Given the description of an element on the screen output the (x, y) to click on. 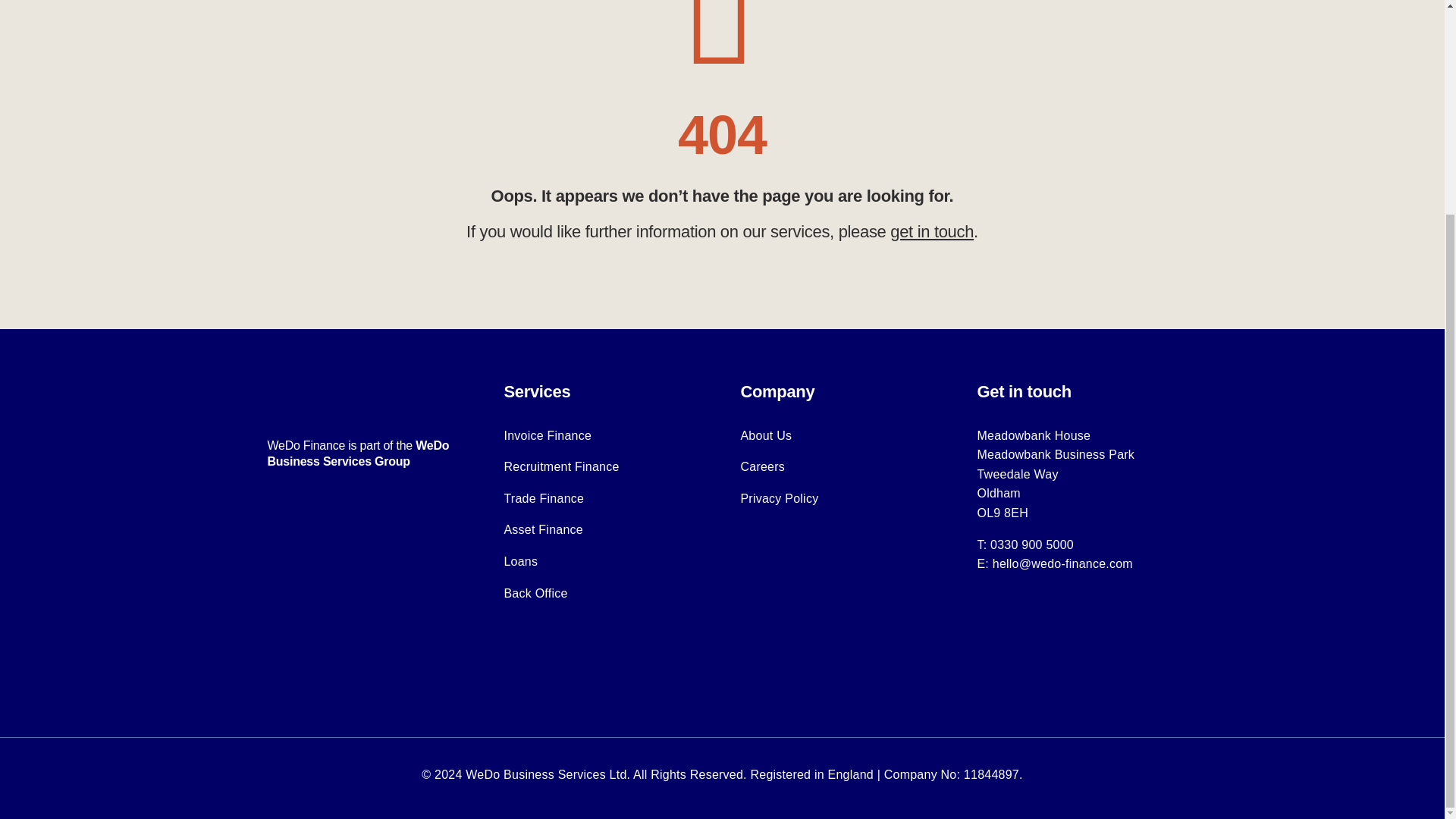
Loans (520, 561)
WeDo Business Services Group (357, 452)
About Us (765, 435)
get in touch (931, 230)
Asset Finance (543, 529)
Trade Finance (543, 498)
Invoice Finance (547, 435)
Recruitment Finance (560, 466)
Back Office (535, 593)
